Given the description of an element on the screen output the (x, y) to click on. 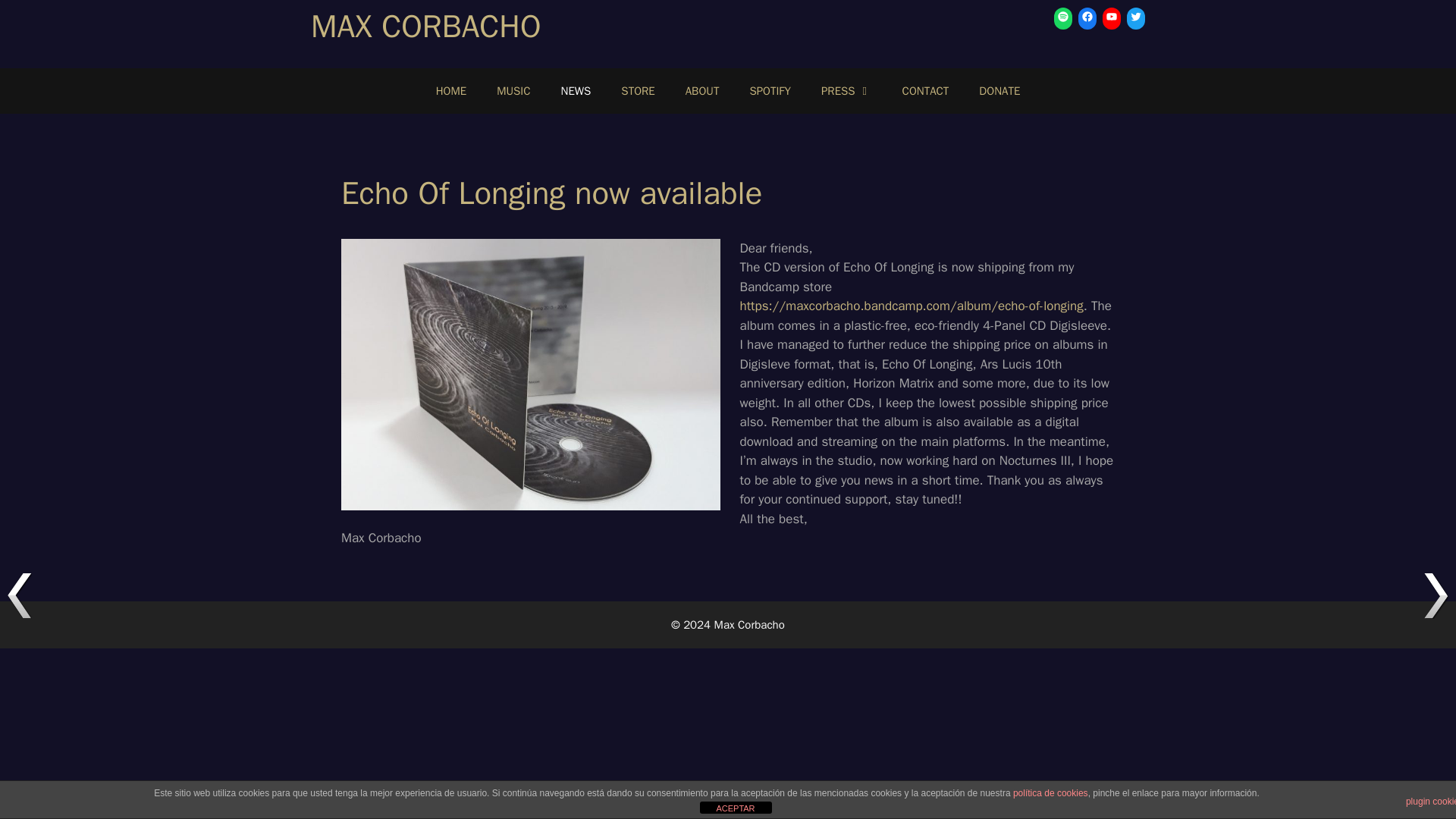
NEWS (576, 90)
YouTube (1111, 16)
CONTACT (924, 90)
Twitter (1135, 16)
DONATE (999, 90)
SPOTIFY (769, 90)
Spotify (1062, 16)
PRESS (846, 90)
HOME (450, 90)
ABOUT (702, 90)
